Given the description of an element on the screen output the (x, y) to click on. 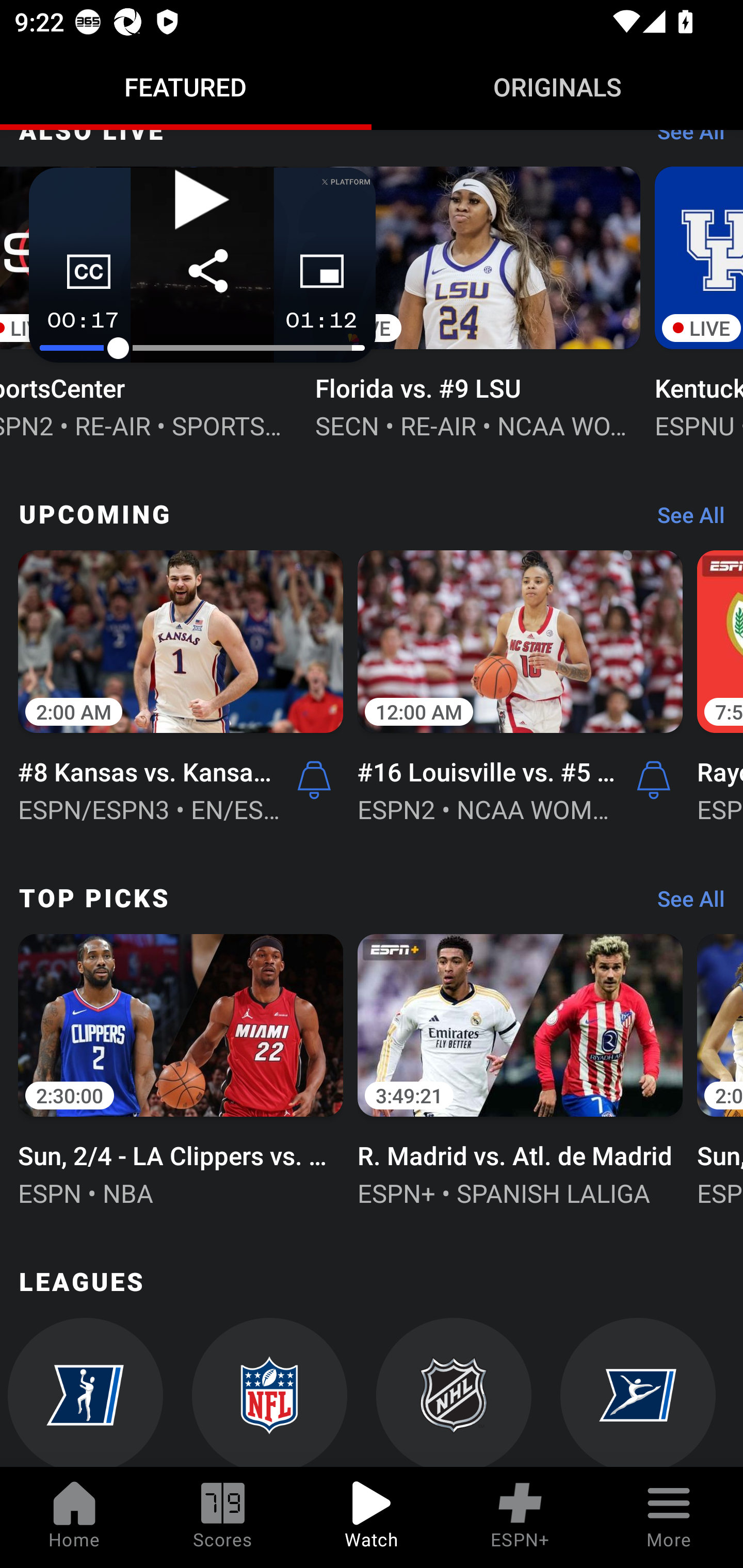
Originals ORIGINALS (557, 86)
See All (683, 519)
Alerts (314, 780)
Alerts (653, 780)
See All (683, 903)
Home (74, 1517)
Scores (222, 1517)
ESPN+ (519, 1517)
More (668, 1517)
